Given the description of an element on the screen output the (x, y) to click on. 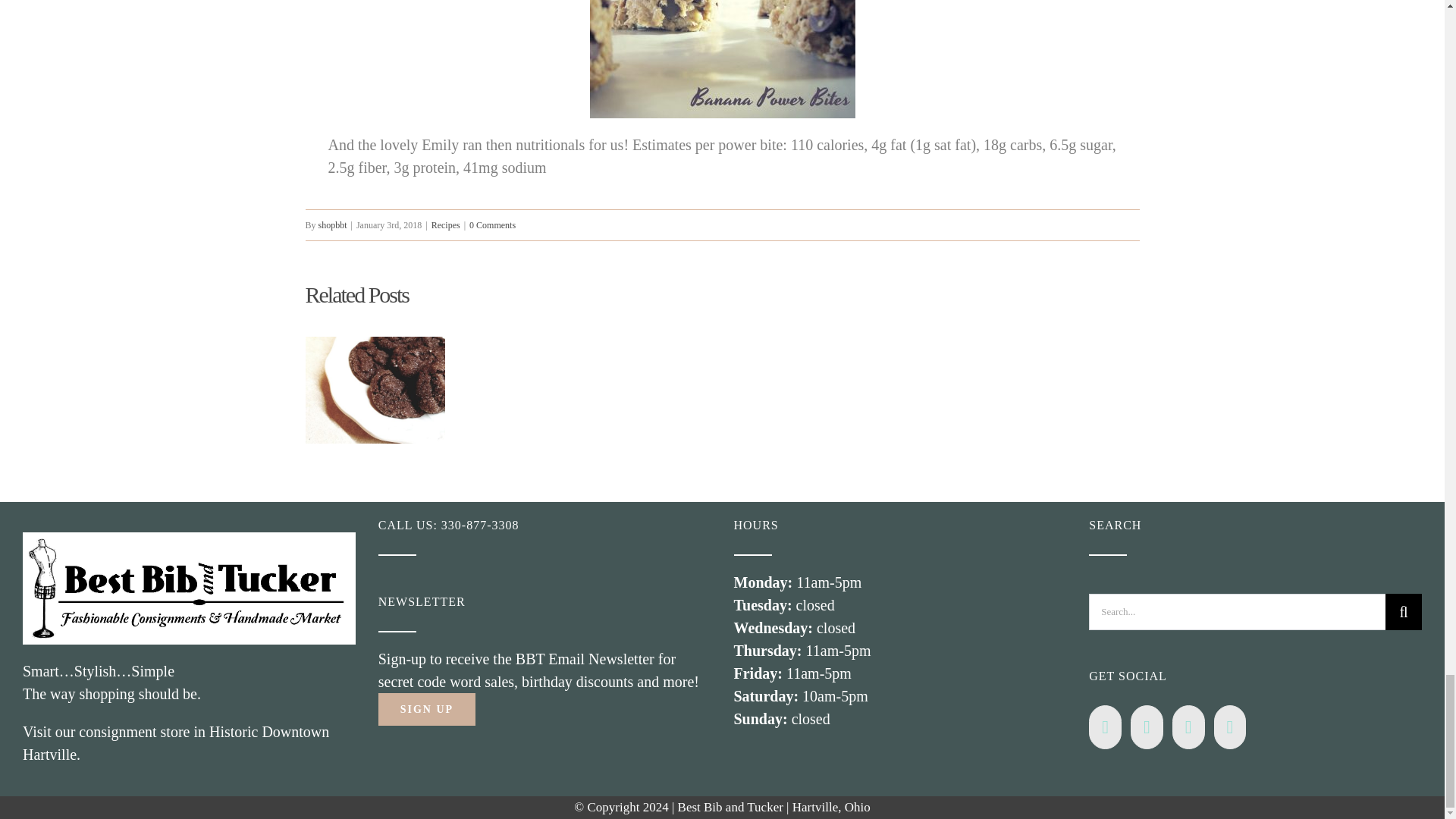
Recipes (445, 225)
shopbbt (332, 225)
0 Comments (491, 225)
Posts by shopbbt (332, 225)
